Given the description of an element on the screen output the (x, y) to click on. 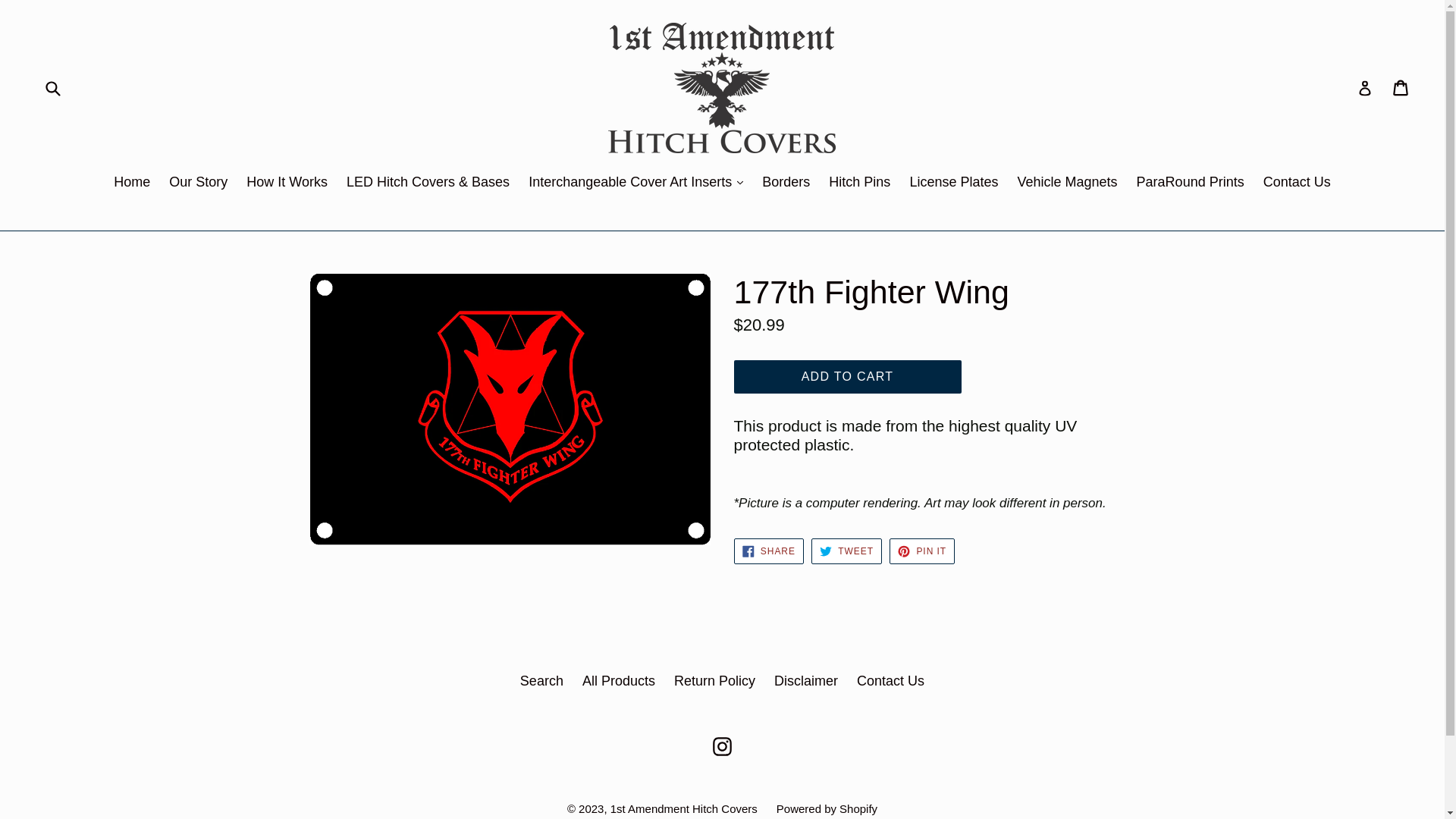
Vehicle Magnets Element type: text (1066, 183)
SHARE
SHARE ON FACEBOOK Element type: text (768, 551)
1st Amendment Hitch Covers Element type: text (683, 808)
Hitch Pins Element type: text (859, 183)
Search Element type: text (541, 680)
Our Story Element type: text (198, 183)
All Products Element type: text (618, 680)
TWEET
TWEET ON TWITTER Element type: text (846, 551)
ParaRound Prints Element type: text (1190, 183)
Submit Element type: text (51, 87)
Cart
Cart Element type: text (1401, 87)
How It Works Element type: text (286, 183)
Powered by Shopify Element type: text (826, 808)
Home Element type: text (131, 183)
PIN IT
PIN ON PINTEREST Element type: text (921, 551)
ADD TO CART Element type: text (847, 376)
Borders Element type: text (785, 183)
Log in Element type: text (1364, 87)
License Plates Element type: text (953, 183)
LED Hitch Covers & Bases Element type: text (427, 183)
Contact Us Element type: text (1296, 183)
Disclaimer Element type: text (805, 680)
Contact Us Element type: text (890, 680)
Return Policy Element type: text (714, 680)
Instagram Element type: text (722, 745)
